Given the description of an element on the screen output the (x, y) to click on. 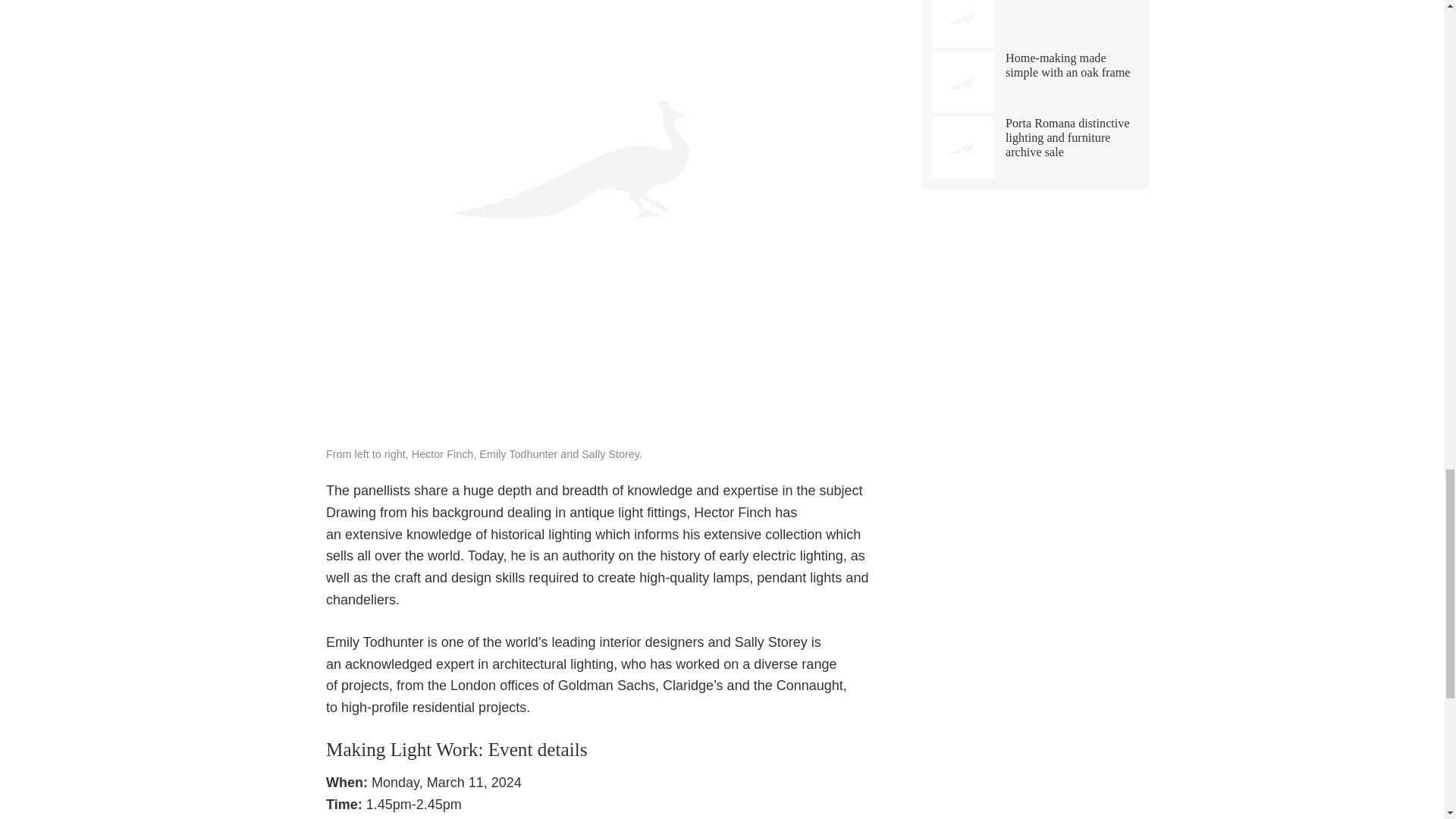
The art of the bath (1035, 23)
Home-making made simple with an oak frame (1035, 82)
Porta Romana distinctive lighting and furniture archive sale (1035, 147)
